Given the description of an element on the screen output the (x, y) to click on. 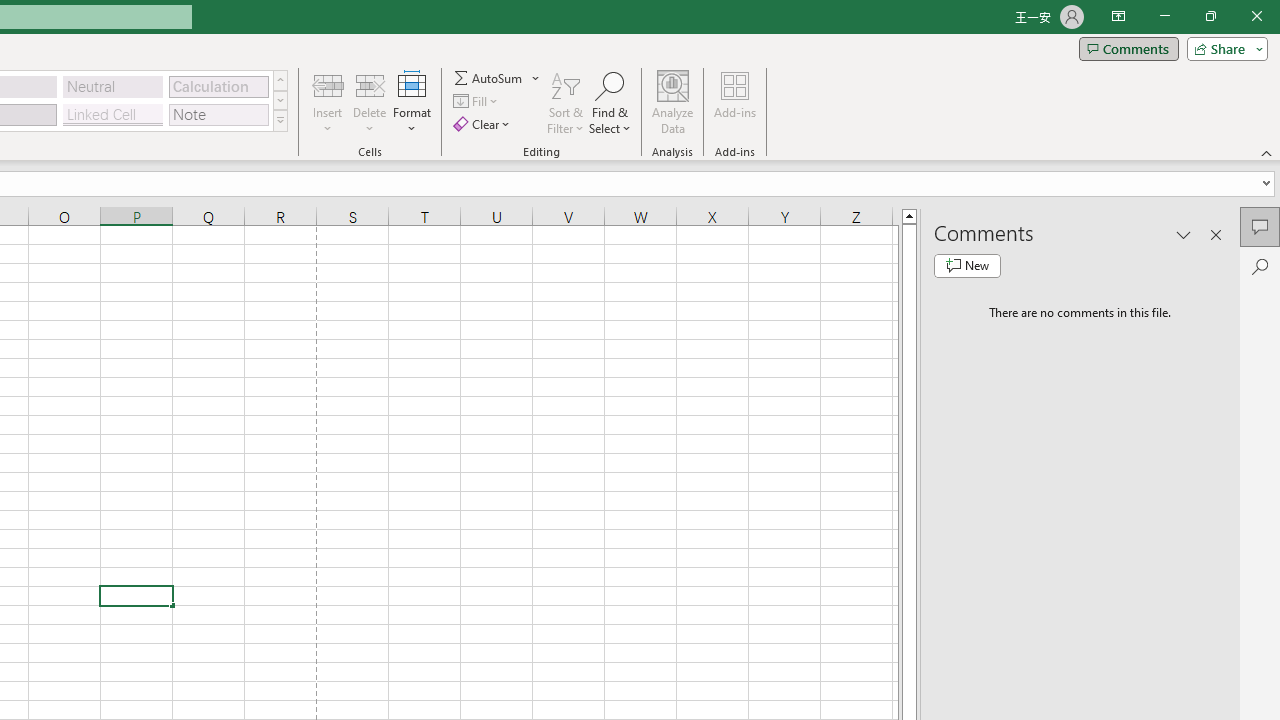
Sort & Filter (566, 102)
Task Pane Options (1183, 234)
Row up (280, 79)
Cell Styles (280, 120)
Search (1260, 266)
Format (411, 102)
